Given the description of an element on the screen output the (x, y) to click on. 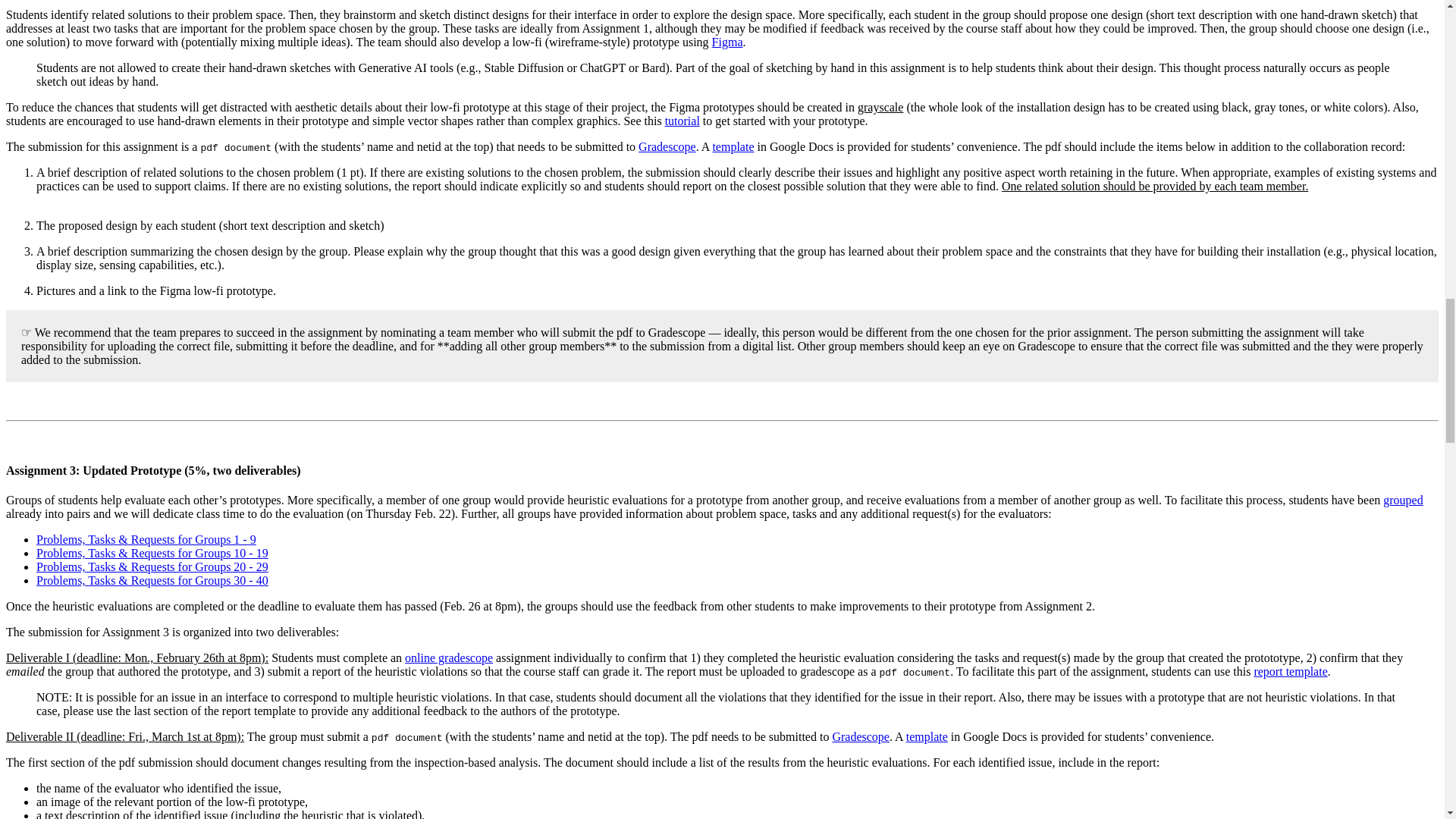
template (732, 146)
Gradescope (667, 146)
grouped (1402, 499)
Figma (726, 42)
tutorial (682, 120)
online gradescope (448, 657)
